Given the description of an element on the screen output the (x, y) to click on. 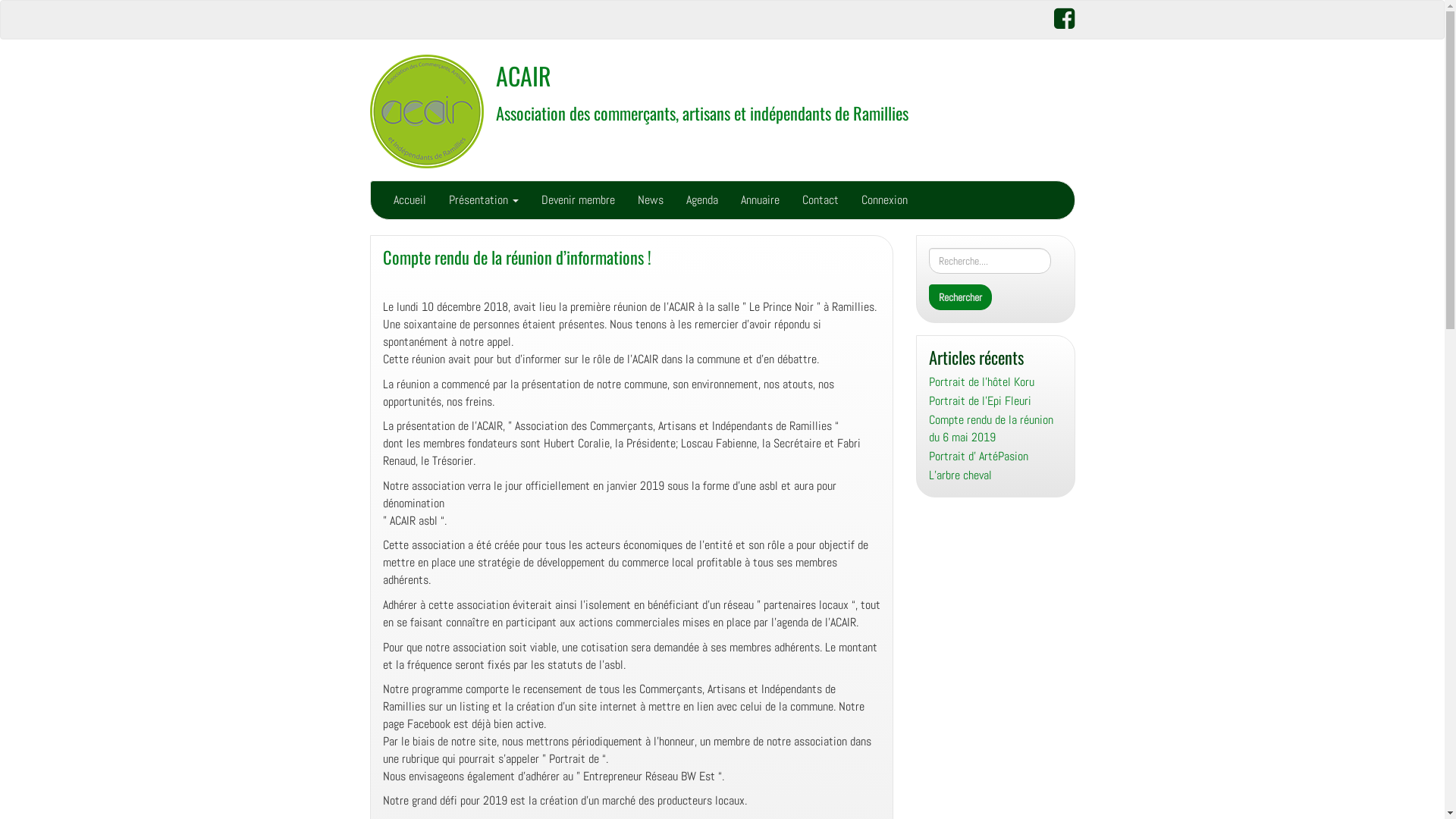
News Element type: text (650, 200)
ACAIR Element type: text (523, 75)
Connexion Element type: text (883, 200)
Annuaire Element type: text (759, 200)
Rechercher Element type: text (959, 297)
Agenda Element type: text (701, 200)
Devenir membre Element type: text (577, 200)
Accueil Element type: text (409, 200)
Contact Element type: text (819, 200)
